Given the description of an element on the screen output the (x, y) to click on. 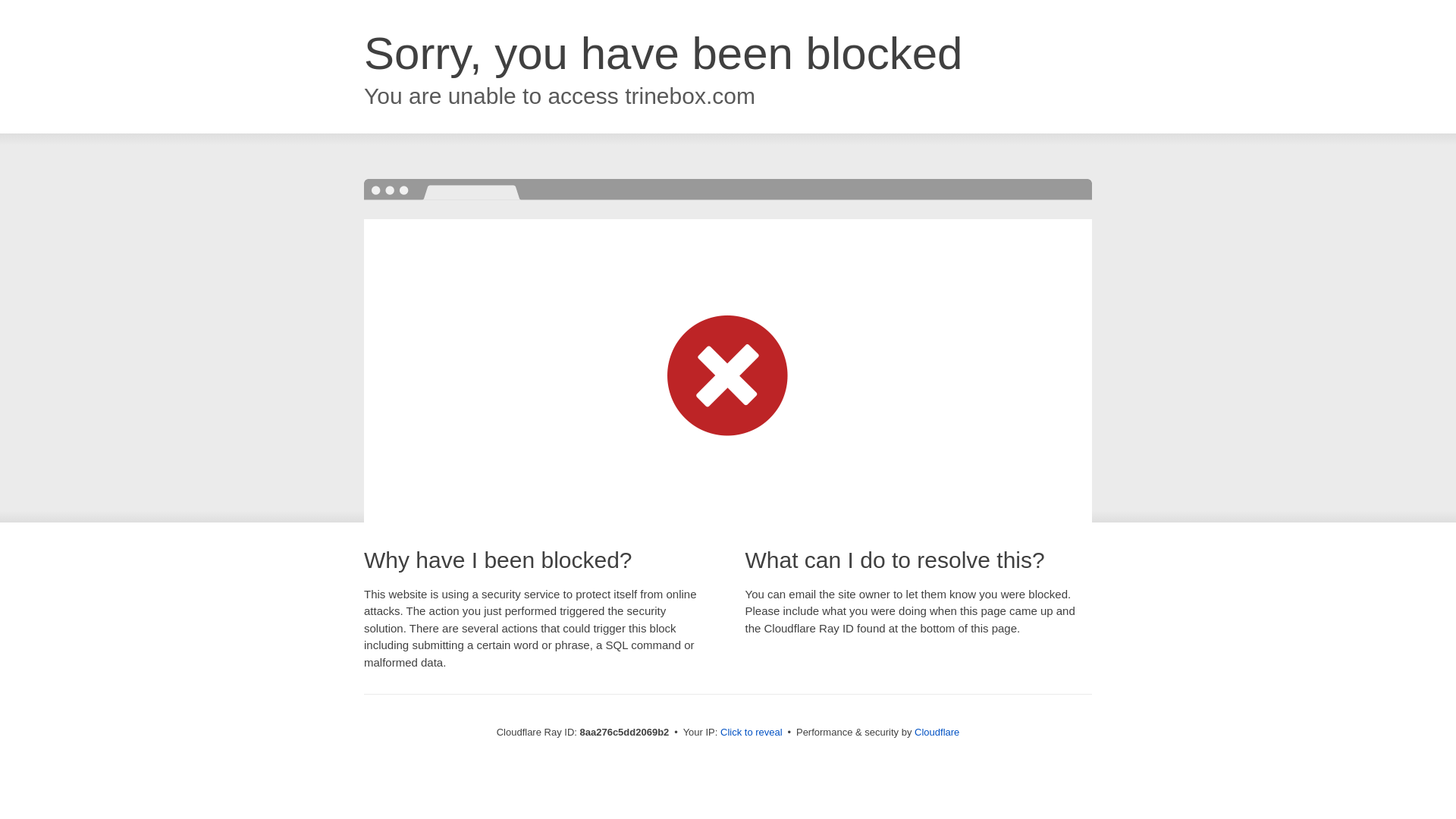
Click to reveal (751, 732)
Cloudflare (936, 731)
